Given the description of an element on the screen output the (x, y) to click on. 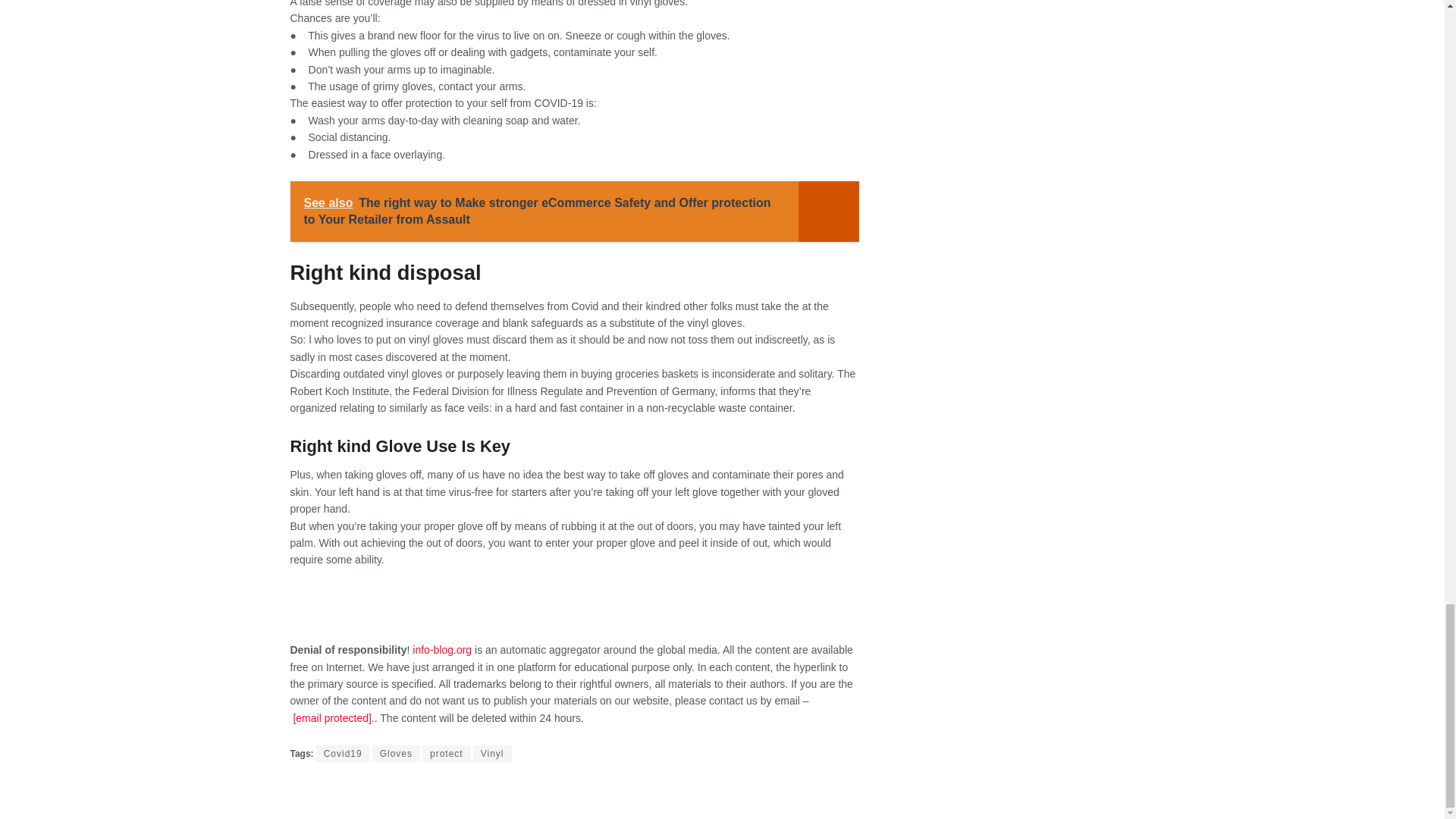
info-blog.org (441, 649)
